Given the description of an element on the screen output the (x, y) to click on. 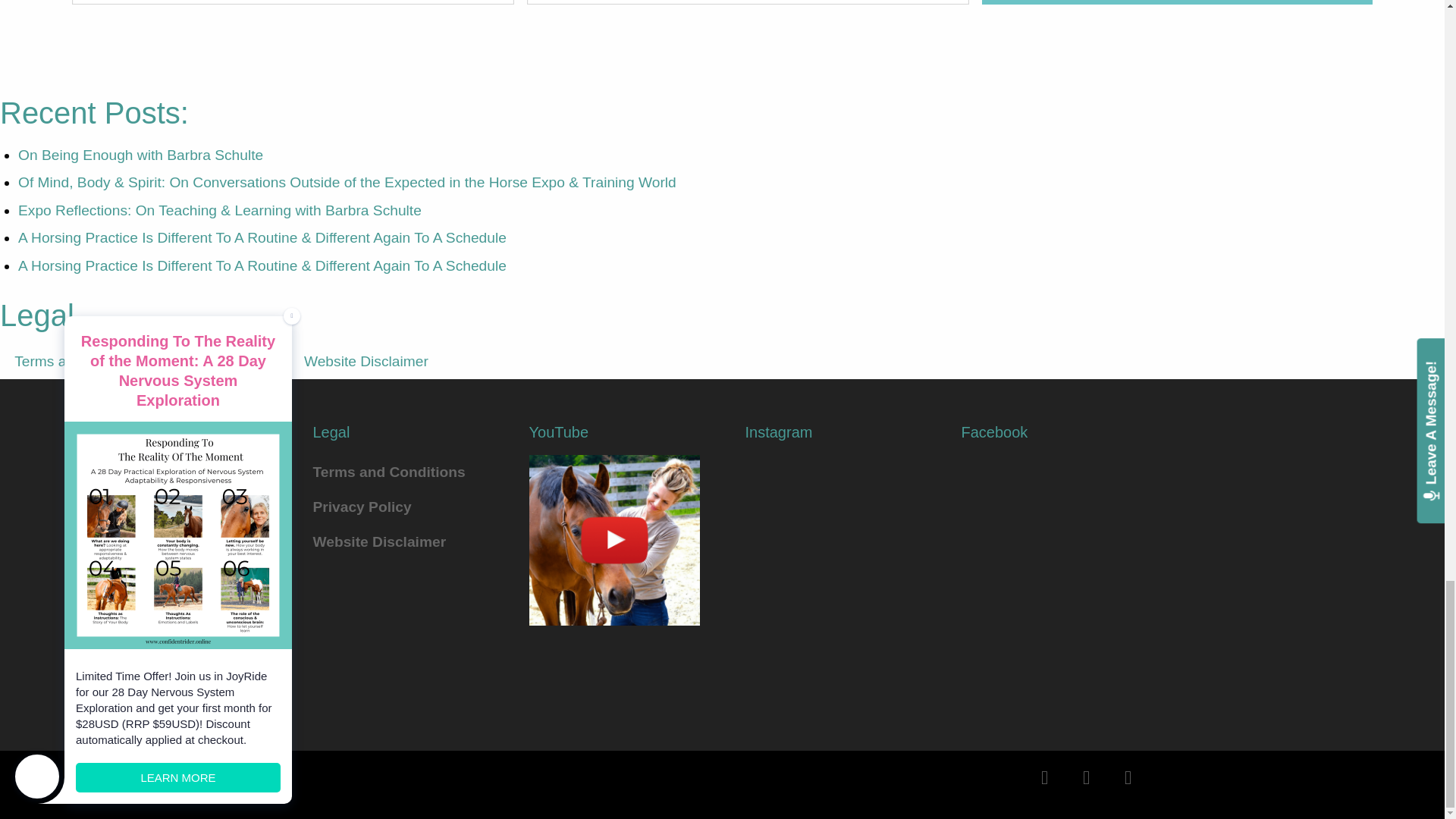
On Being Enough with Barbra Schulte (140, 154)
Terms and Conditions (398, 472)
Website Disclaimer (365, 361)
Terms and Conditions (85, 361)
Privacy Policy (398, 506)
Privacy Policy (229, 361)
Sign Me Up! (1176, 2)
